Given the description of an element on the screen output the (x, y) to click on. 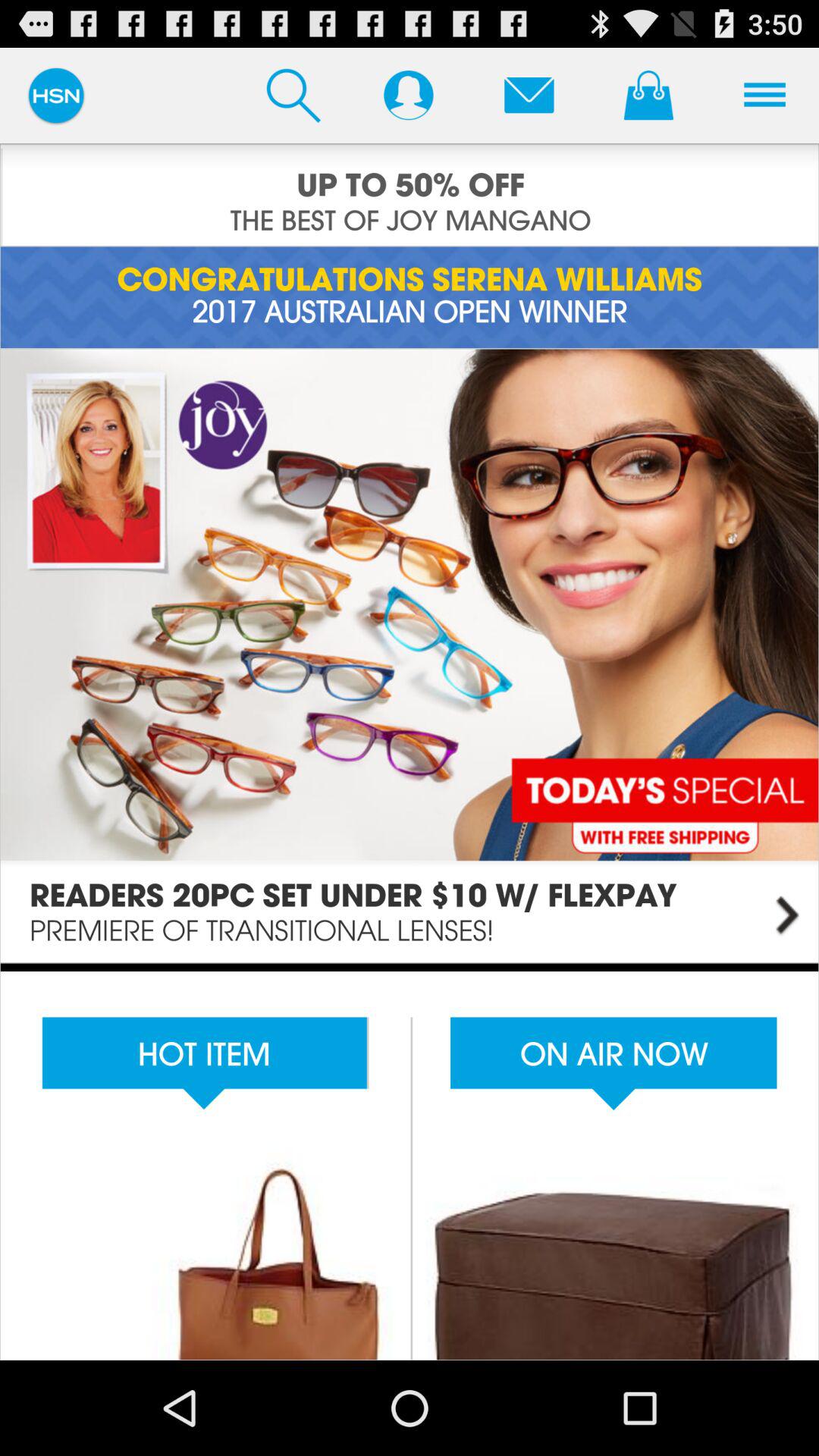
open main site (409, 655)
